Given the description of an element on the screen output the (x, y) to click on. 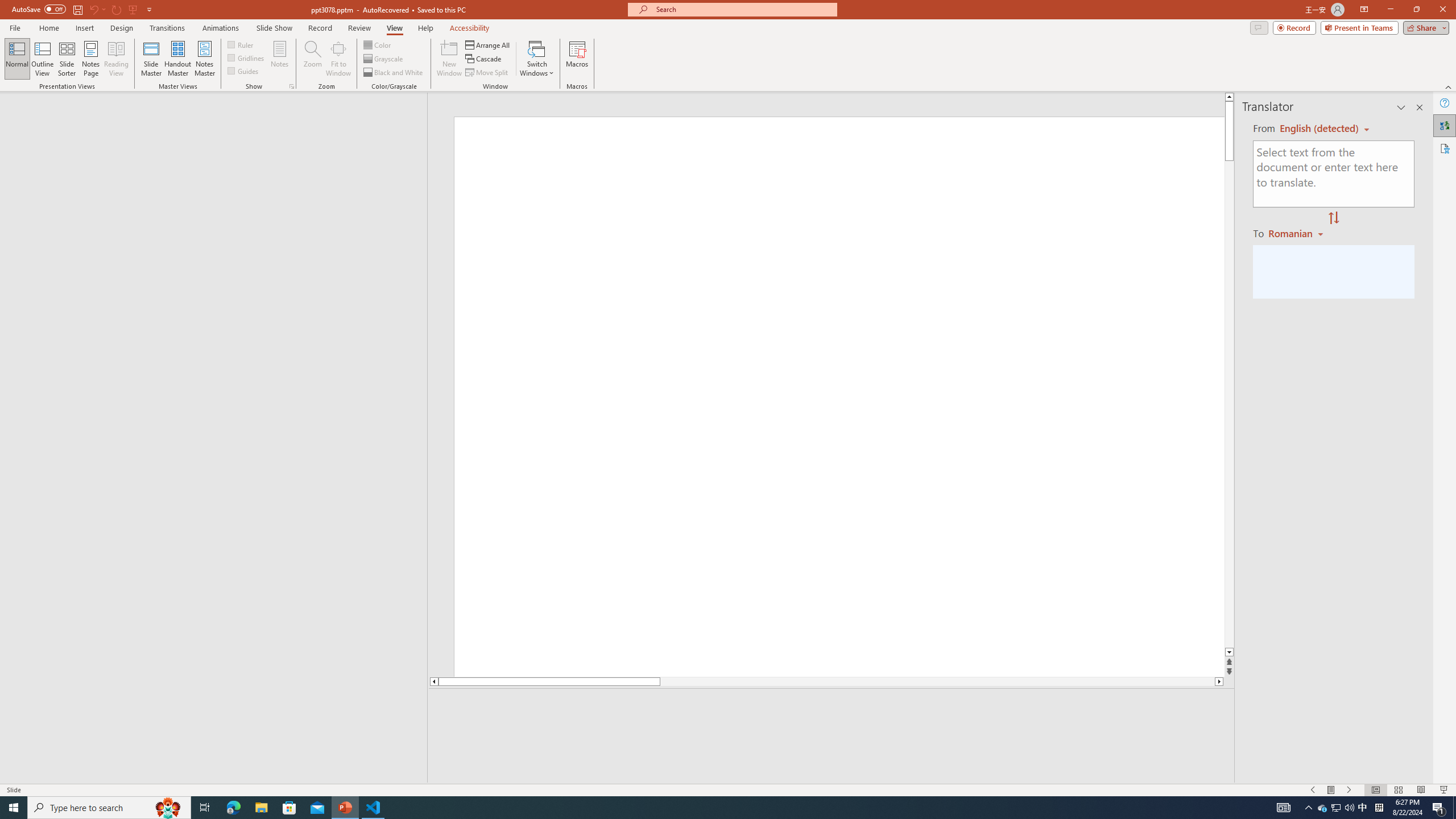
Ruler (241, 44)
Romanian (1296, 232)
Zoom... (312, 58)
Black and White (393, 72)
